Given the description of an element on the screen output the (x, y) to click on. 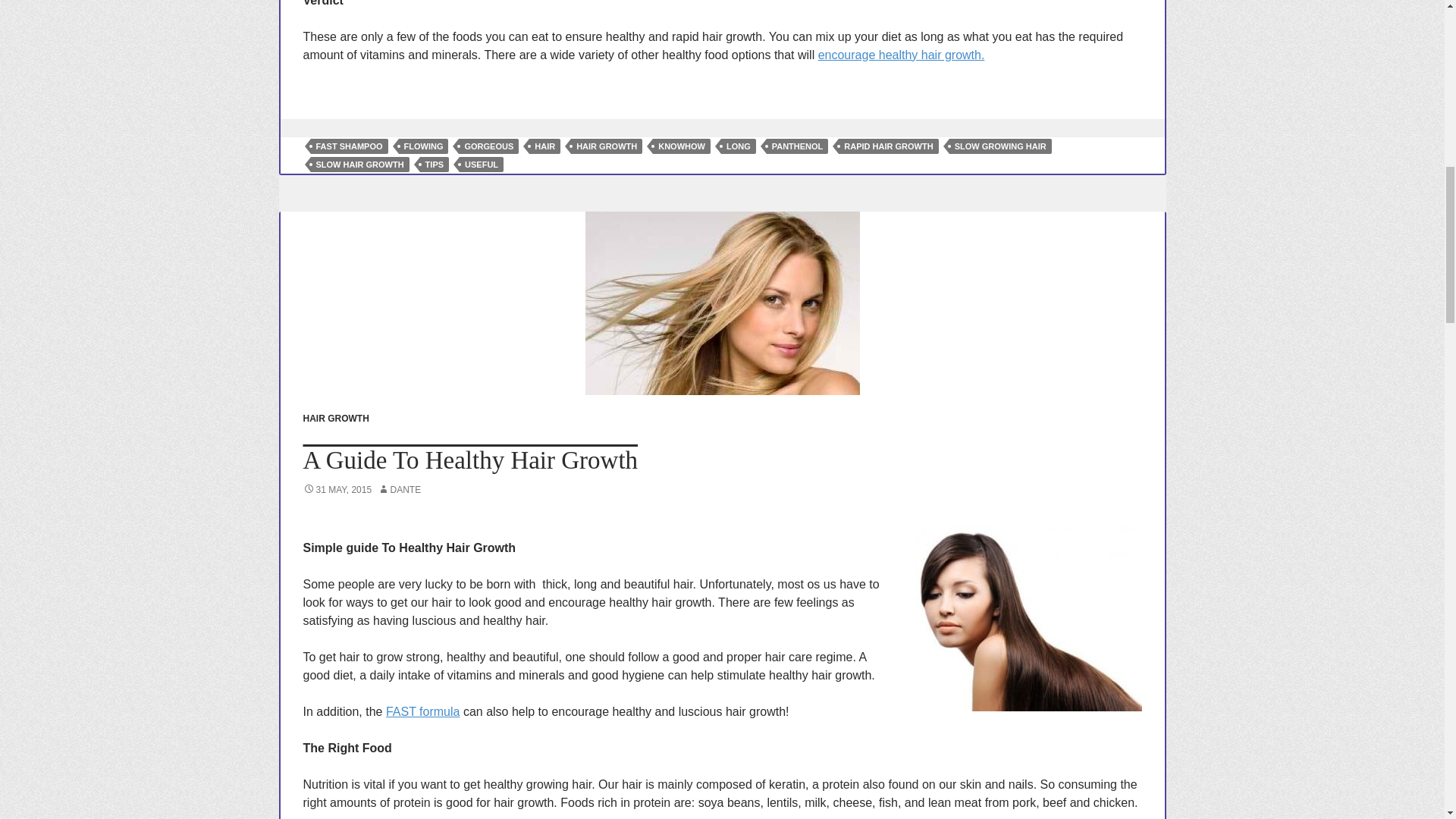
KNOWHOW (681, 145)
RAPID HAIR GROWTH (887, 145)
FAST SHAMPOO (349, 145)
HAIR GROWTH (606, 145)
LONG (737, 145)
SLOW HAIR GROWTH (360, 164)
FLOWING (423, 145)
encourage healthy hair growth. (901, 54)
TIPS (434, 164)
PANTHENOL (797, 145)
